Given the description of an element on the screen output the (x, y) to click on. 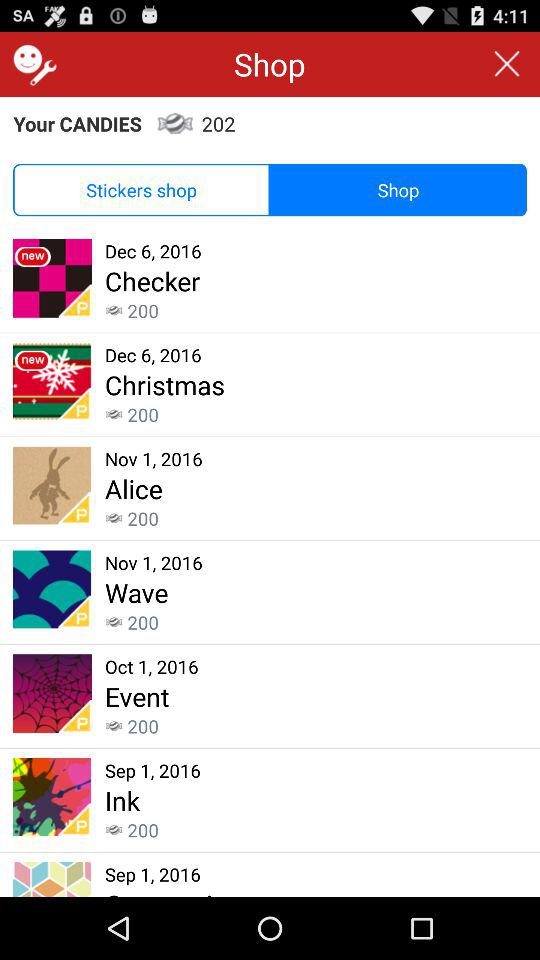
launch the item next to shop item (141, 189)
